Given the description of an element on the screen output the (x, y) to click on. 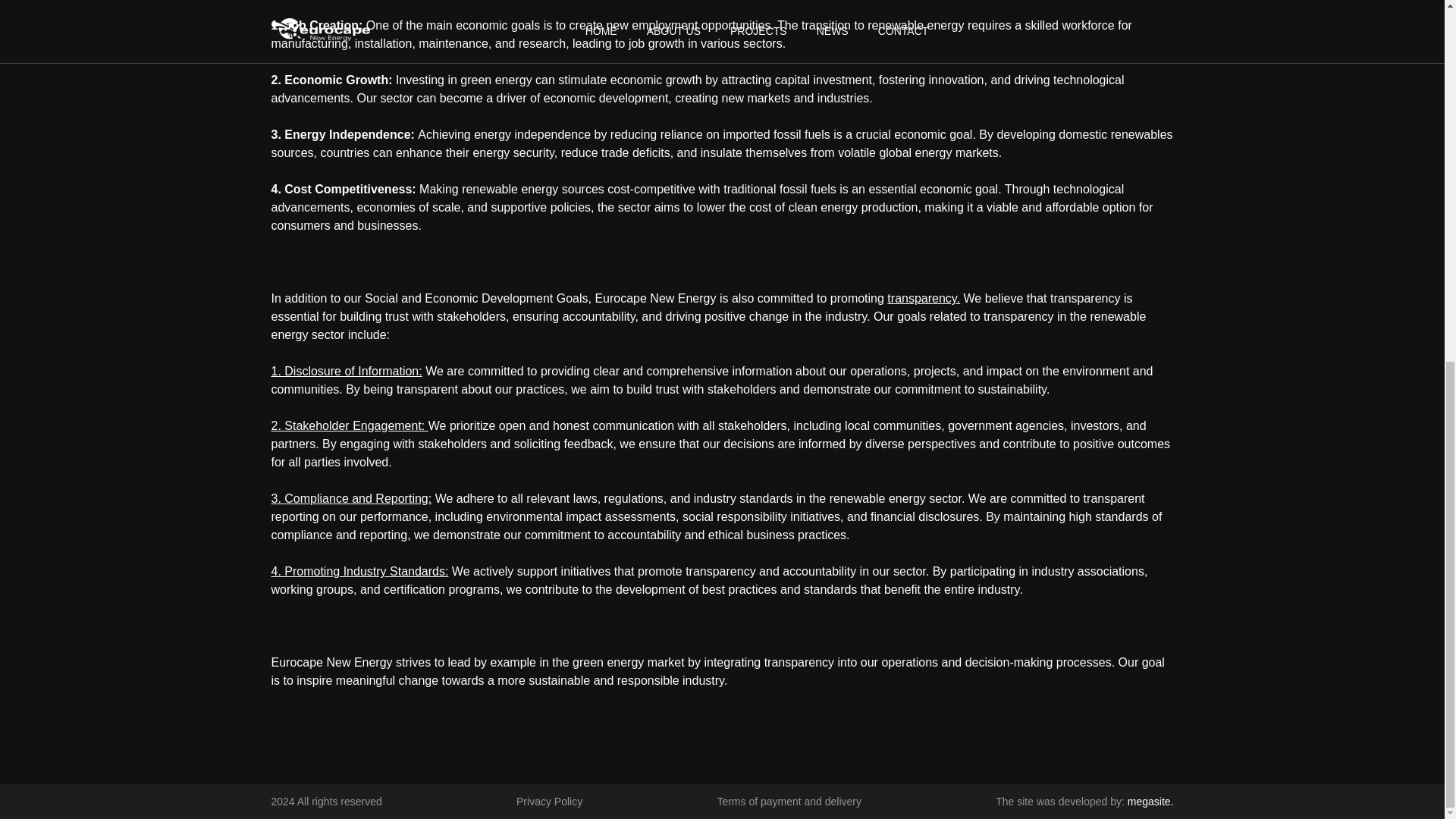
Terms of payment and delivery (788, 801)
Privacy Policy (549, 801)
The site was developed by: megasite. (1084, 801)
